Given the description of an element on the screen output the (x, y) to click on. 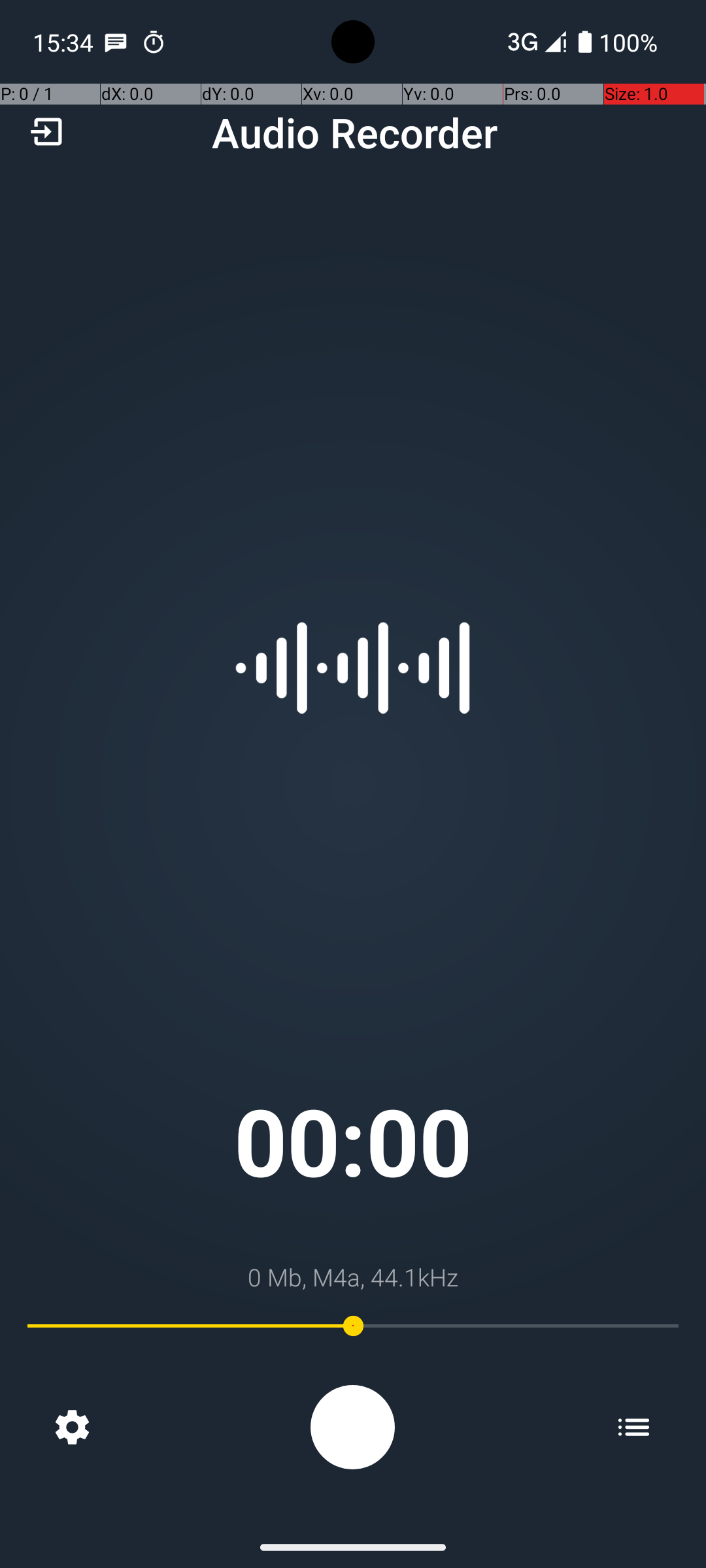
Audio Recorder Element type: android.widget.TextView (354, 132)
00:00 Element type: android.widget.TextView (352, 1140)
0 Mb, M4a, 44.1kHz Element type: android.widget.TextView (352, 1276)
Settings Element type: android.widget.ImageButton (72, 1427)
Recording: %s Element type: android.widget.ImageButton (352, 1427)
15:34 Element type: android.widget.TextView (64, 41)
SMS Messenger notification: Matteo Ibrahim Element type: android.widget.ImageView (115, 41)
Clock notification:  Element type: android.widget.ImageView (153, 41)
Phone signal full. Element type: android.widget.FrameLayout (534, 41)
Battery 100 percent. Element type: android.widget.LinearLayout (617, 41)
No internet Element type: android.widget.ImageView (521, 41)
